Given the description of an element on the screen output the (x, y) to click on. 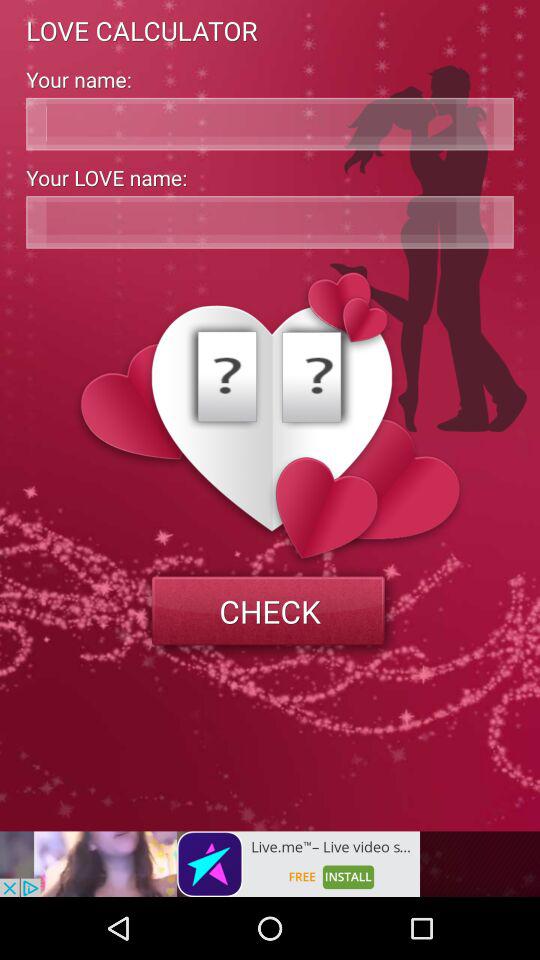
advertisement page (210, 864)
